Given the description of an element on the screen output the (x, y) to click on. 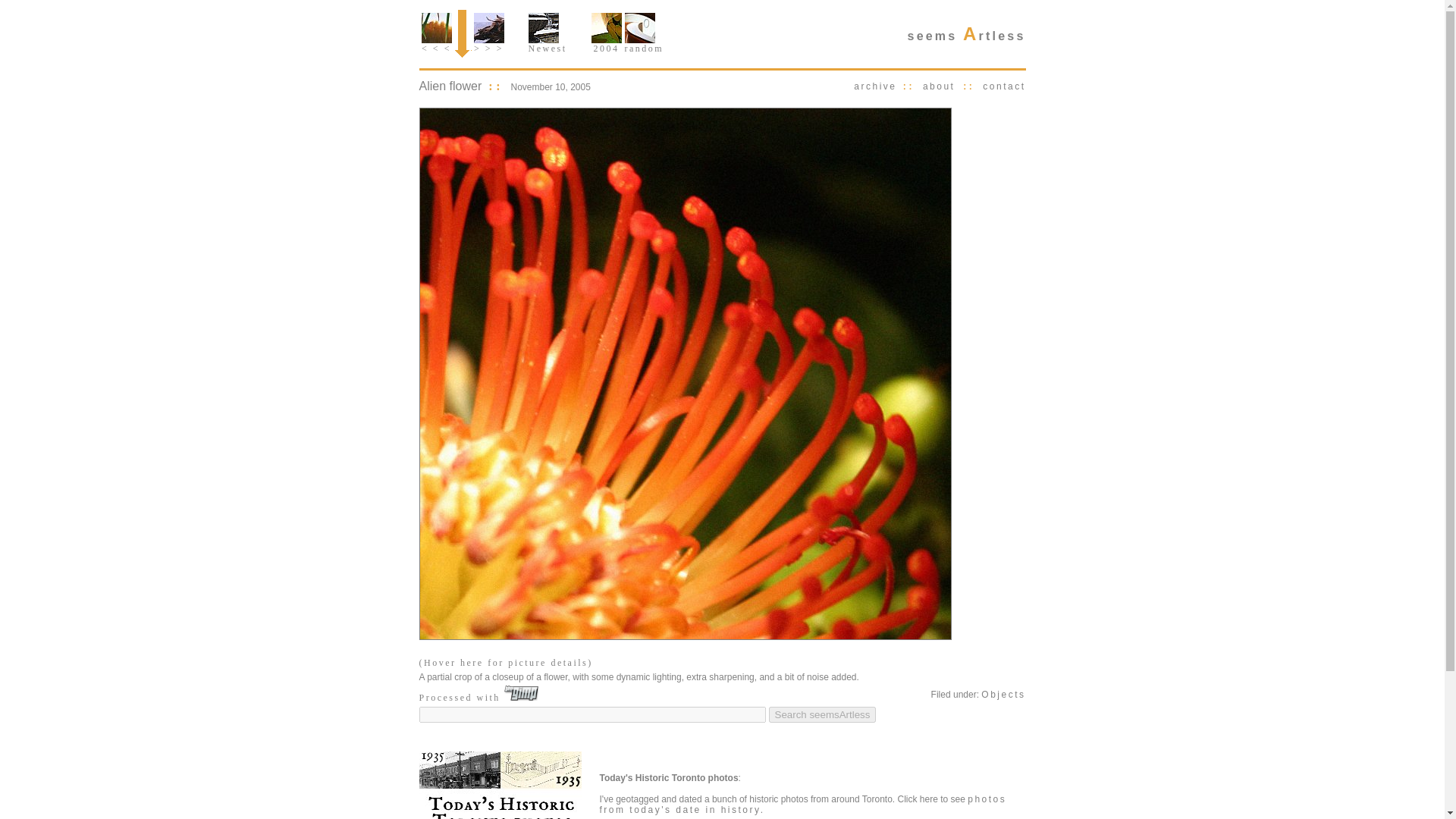
Processed with (478, 697)
2004 (606, 44)
archive (874, 86)
Newest picture (542, 28)
Picture from 2004 (606, 28)
random (643, 44)
Search seemsArtless (822, 714)
about :: contact (971, 86)
Random picture (639, 28)
Objects (1003, 694)
Search seemsArtless (822, 714)
Newest (546, 44)
Next picture (488, 28)
Previous picture (436, 28)
photos from today's date in history. (802, 803)
